Given the description of an element on the screen output the (x, y) to click on. 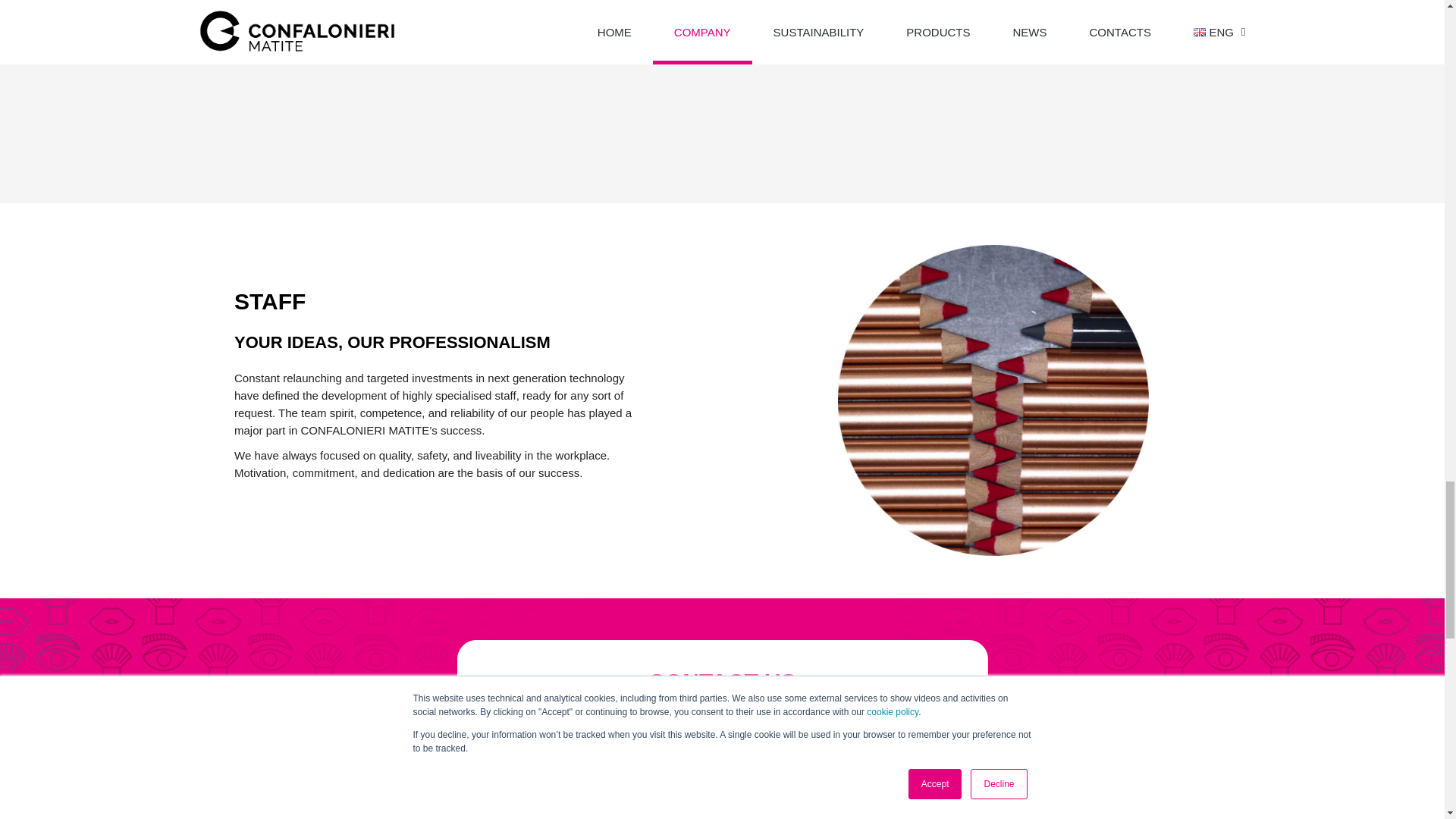
Form 1 (721, 790)
